Given the description of an element on the screen output the (x, y) to click on. 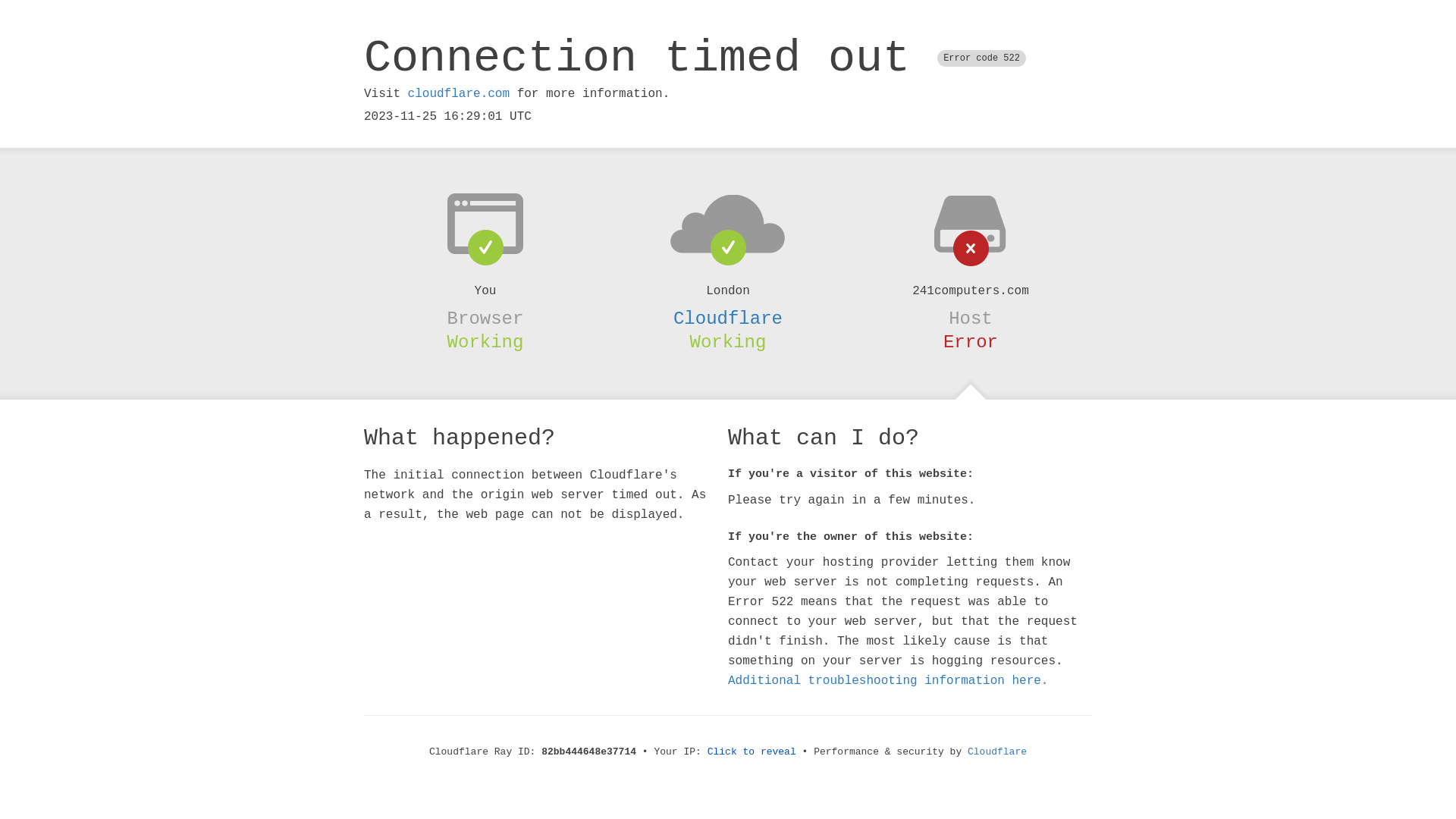
cloudflare.com Element type: text (458, 93)
Cloudflare Element type: text (996, 751)
Cloudflare Element type: text (727, 318)
Additional troubleshooting information here. Element type: text (888, 680)
Click to reveal Element type: text (751, 751)
